Given the description of an element on the screen output the (x, y) to click on. 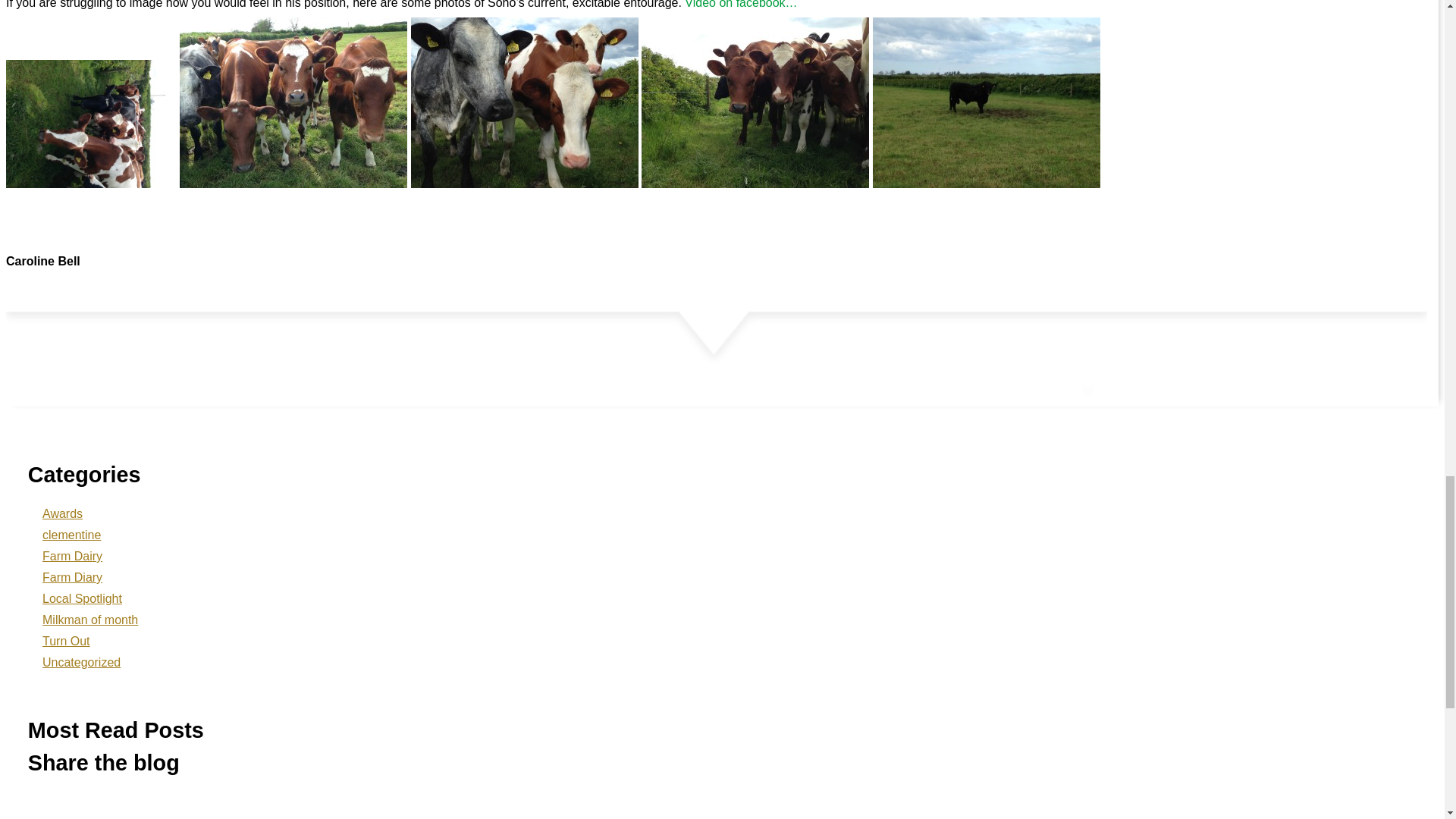
Farm Diary (71, 577)
Local Spotlight (82, 599)
Awards (62, 513)
Milkman of month (90, 620)
Uncategorized (81, 662)
clementine (71, 535)
Turn Out (66, 641)
Farm Dairy (71, 556)
